Given the description of an element on the screen output the (x, y) to click on. 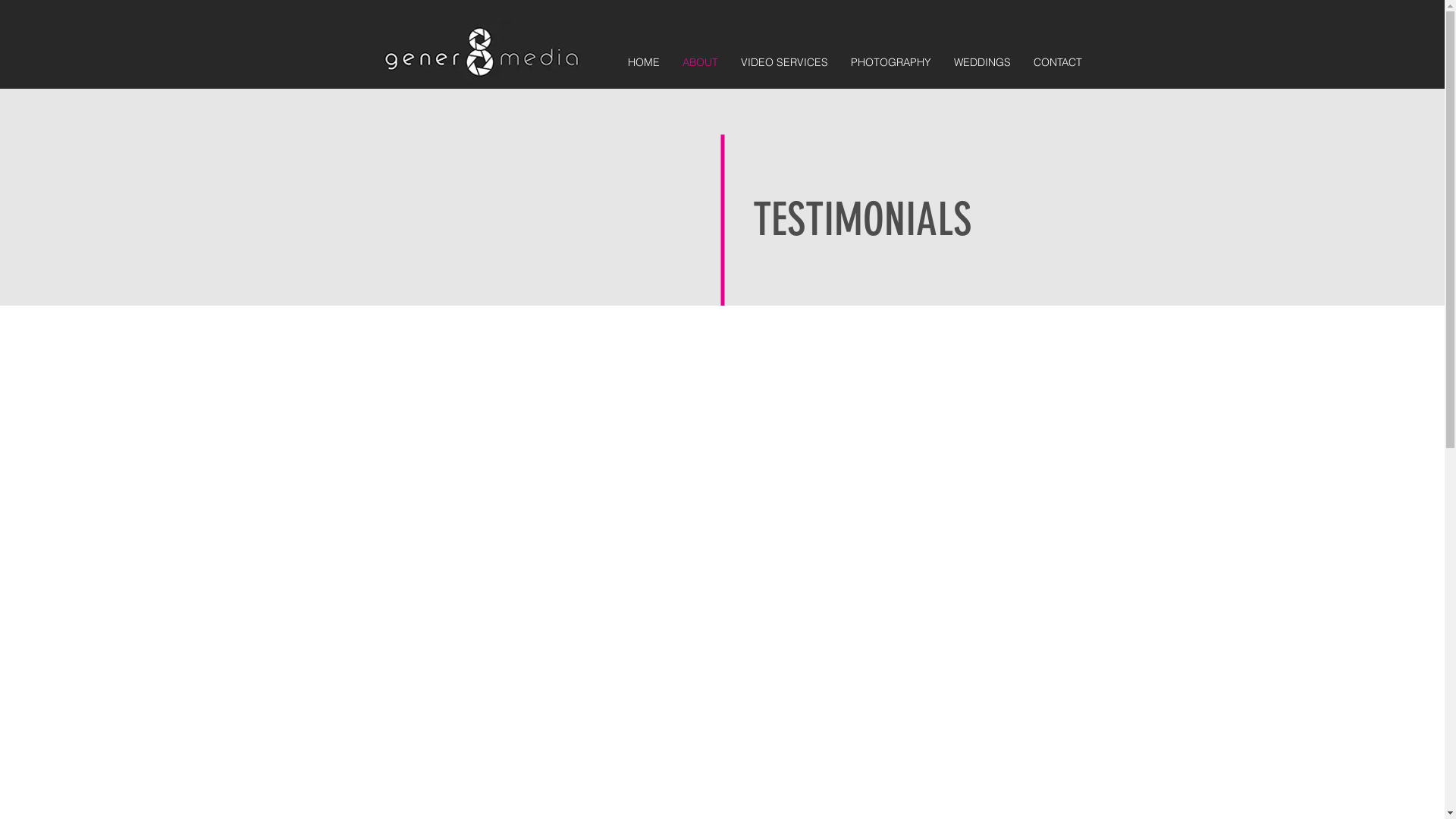
VIDEO SERVICES Element type: text (784, 62)
PHOTOGRAPHY Element type: text (889, 62)
HOME Element type: text (642, 62)
CONTACT Element type: text (1057, 62)
ABOUT Element type: text (699, 62)
WEDDINGS Element type: text (981, 62)
